Given the description of an element on the screen output the (x, y) to click on. 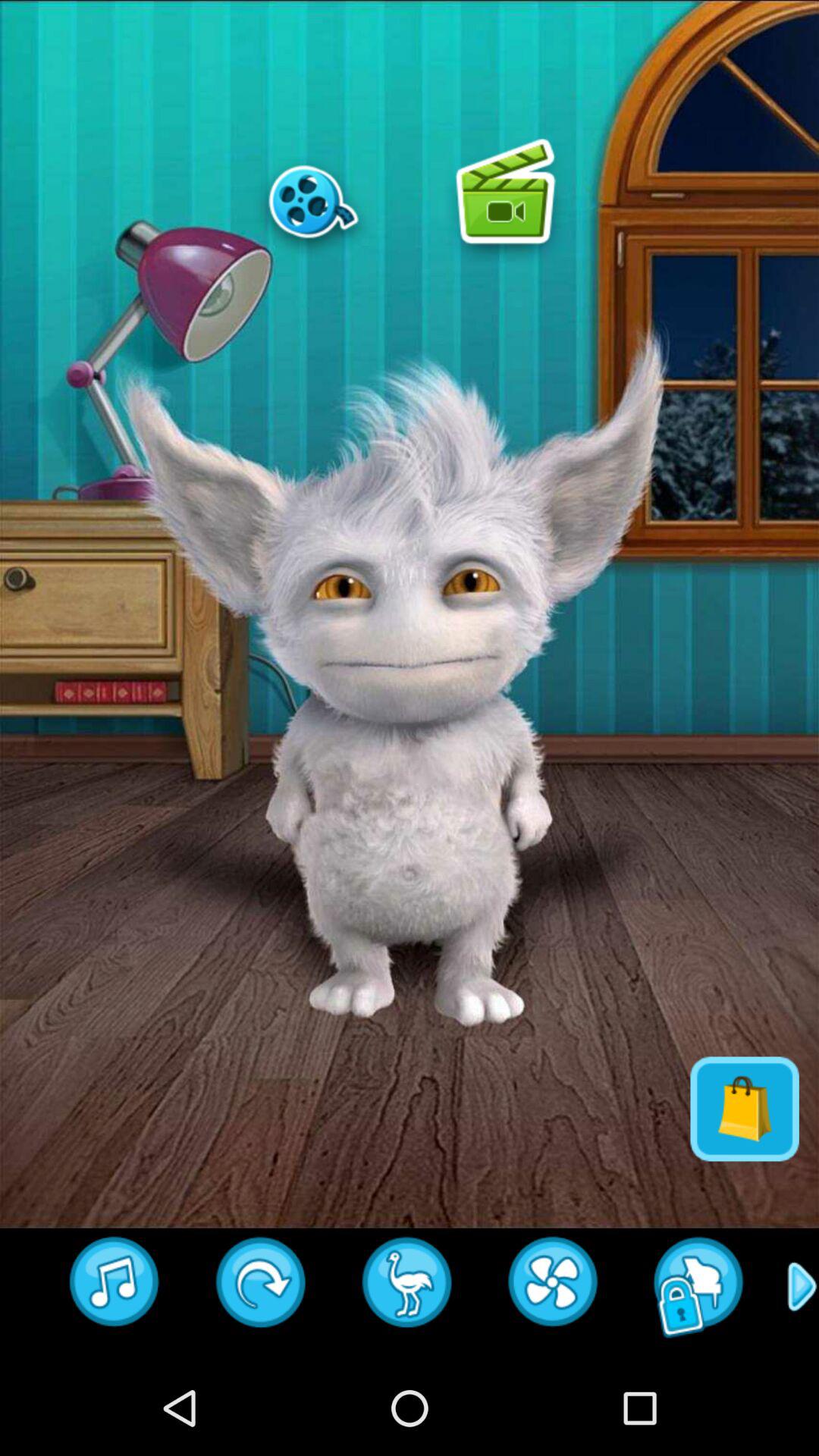
reload current page (553, 1287)
